Given the description of an element on the screen output the (x, y) to click on. 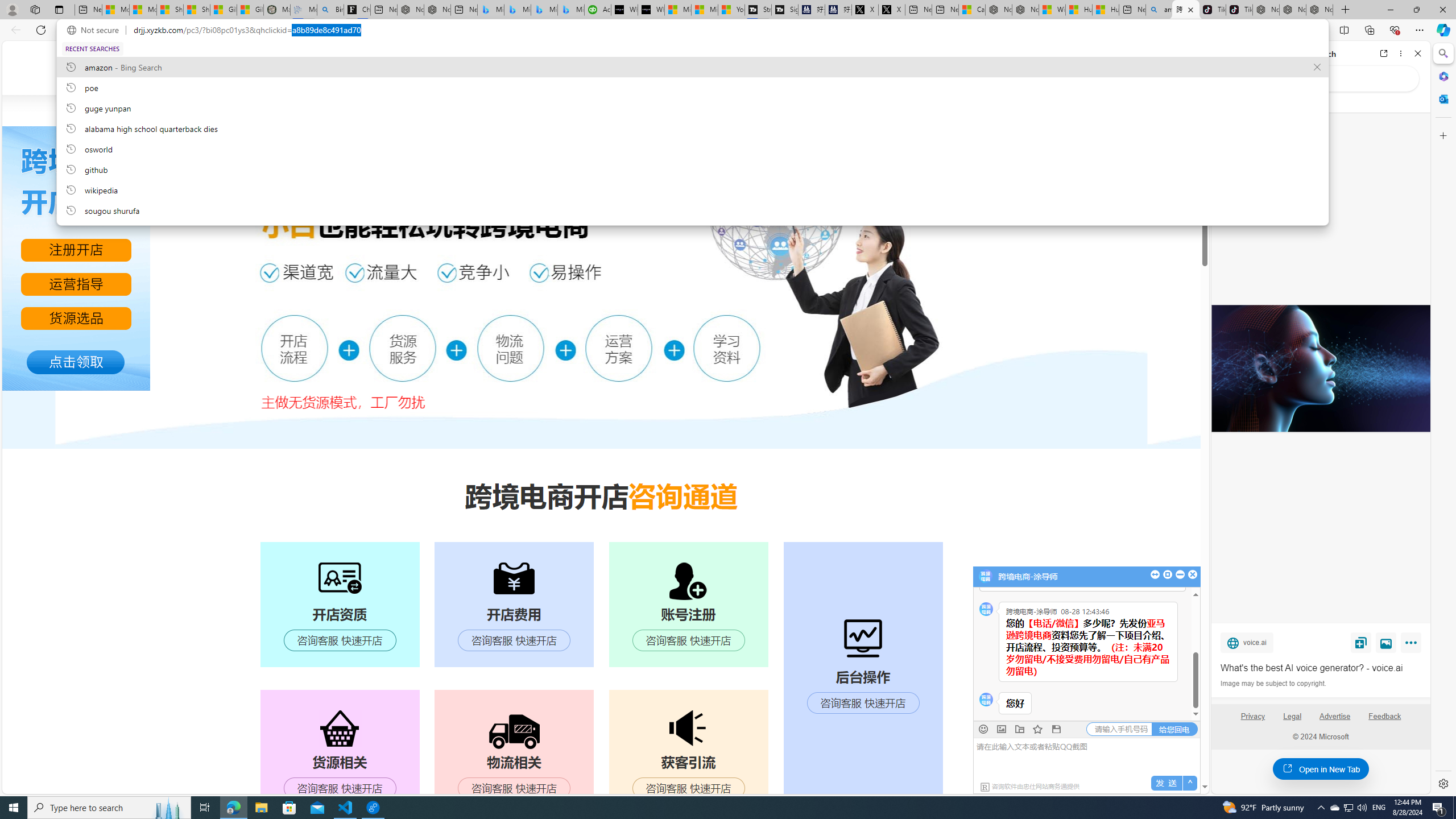
Forward (1242, 53)
Nordace - Siena Pro 15 Essential Set (1319, 9)
This site scope (1259, 102)
Open in New Tab (1321, 768)
